Given the description of an element on the screen output the (x, y) to click on. 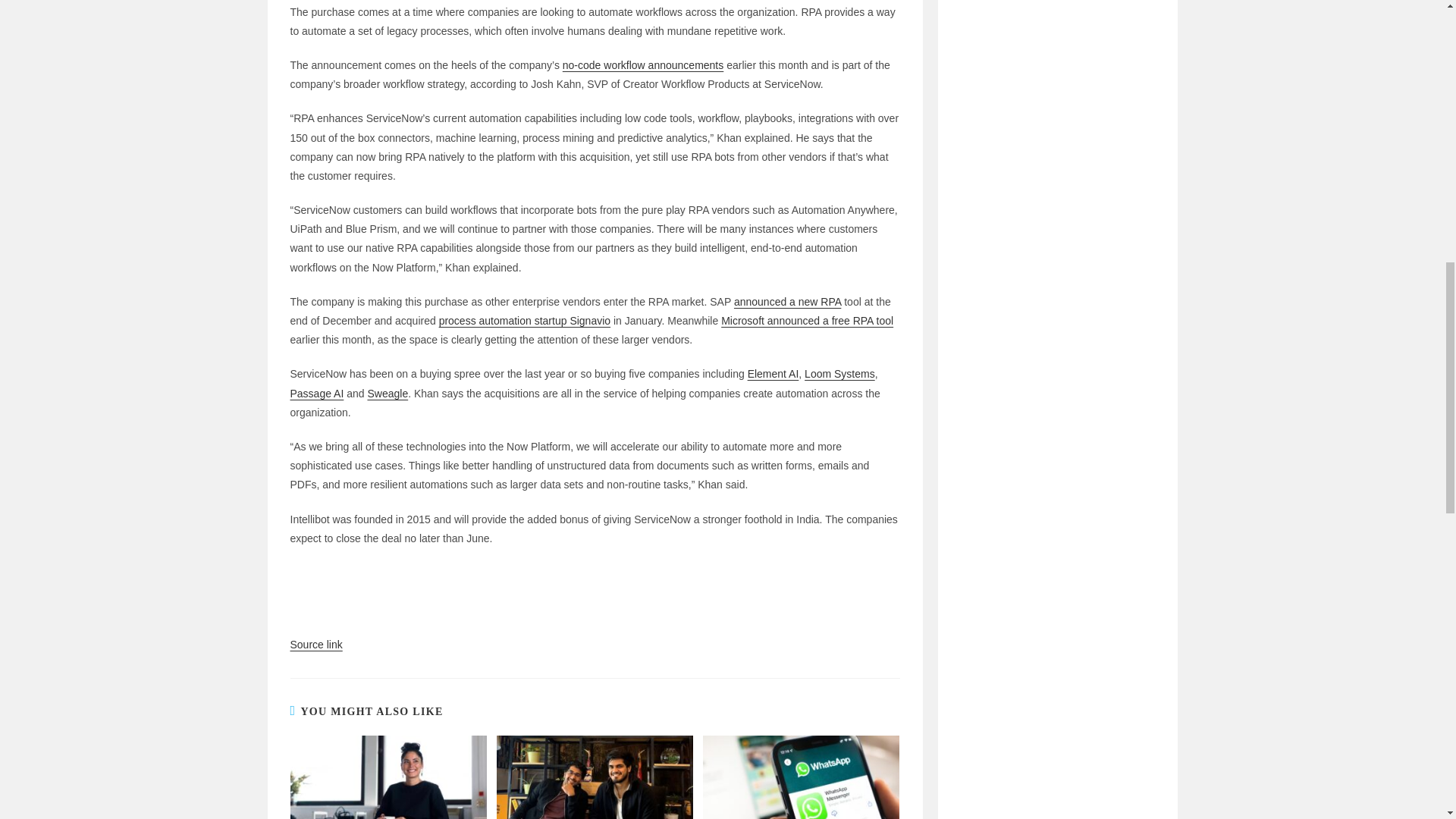
Sweagle (386, 393)
Microsoft announced a free RPA tool (806, 320)
Loom Systems (840, 373)
Source link (315, 644)
no-code workflow announcements (642, 64)
Passage AI (316, 393)
Element AI (773, 373)
announced a new RPA (787, 301)
process automation startup Signavio (524, 320)
